Given the description of an element on the screen output the (x, y) to click on. 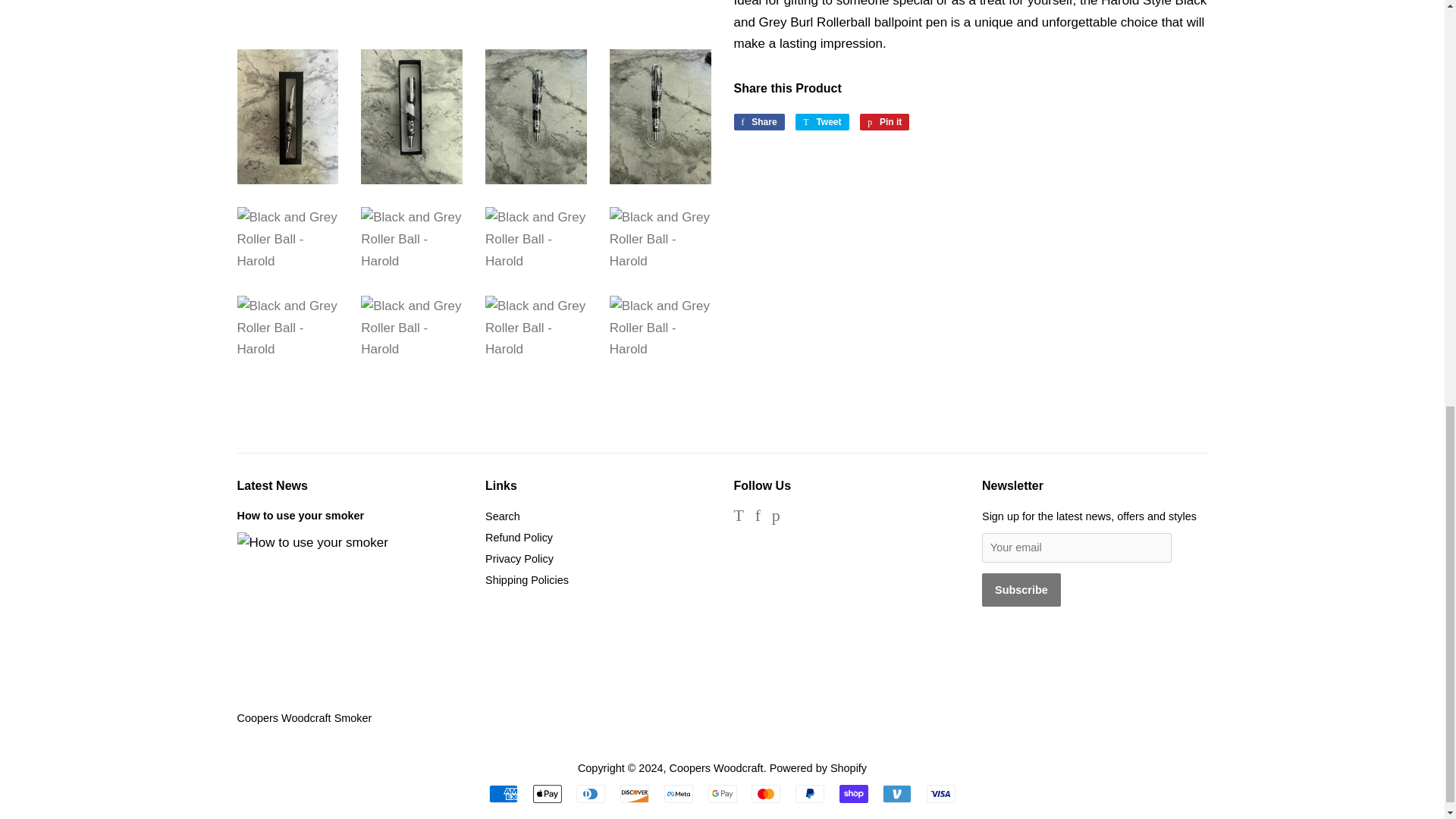
Tweet on Twitter (821, 121)
Subscribe (1021, 589)
Visa (940, 793)
Meta Pay (678, 793)
Discover (634, 793)
Venmo (896, 793)
Apple Pay (547, 793)
Shop Pay (853, 793)
Diners Club (590, 793)
Google Pay (721, 793)
